Given the description of an element on the screen output the (x, y) to click on. 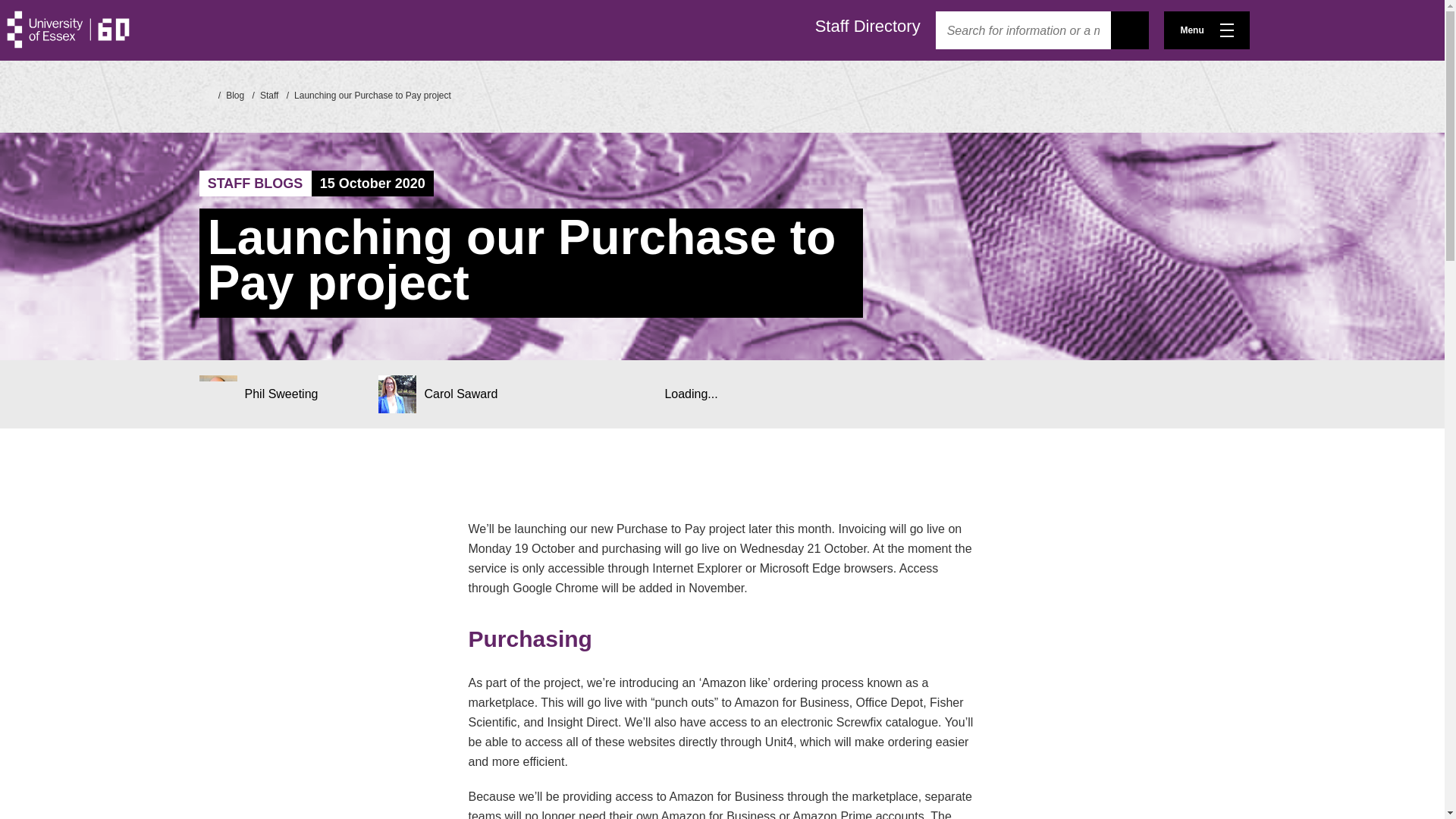
Search for information or a member of staff... (1023, 30)
Staff Directory (867, 26)
University of Essex homepage (203, 94)
Menu (1206, 30)
